Given the description of an element on the screen output the (x, y) to click on. 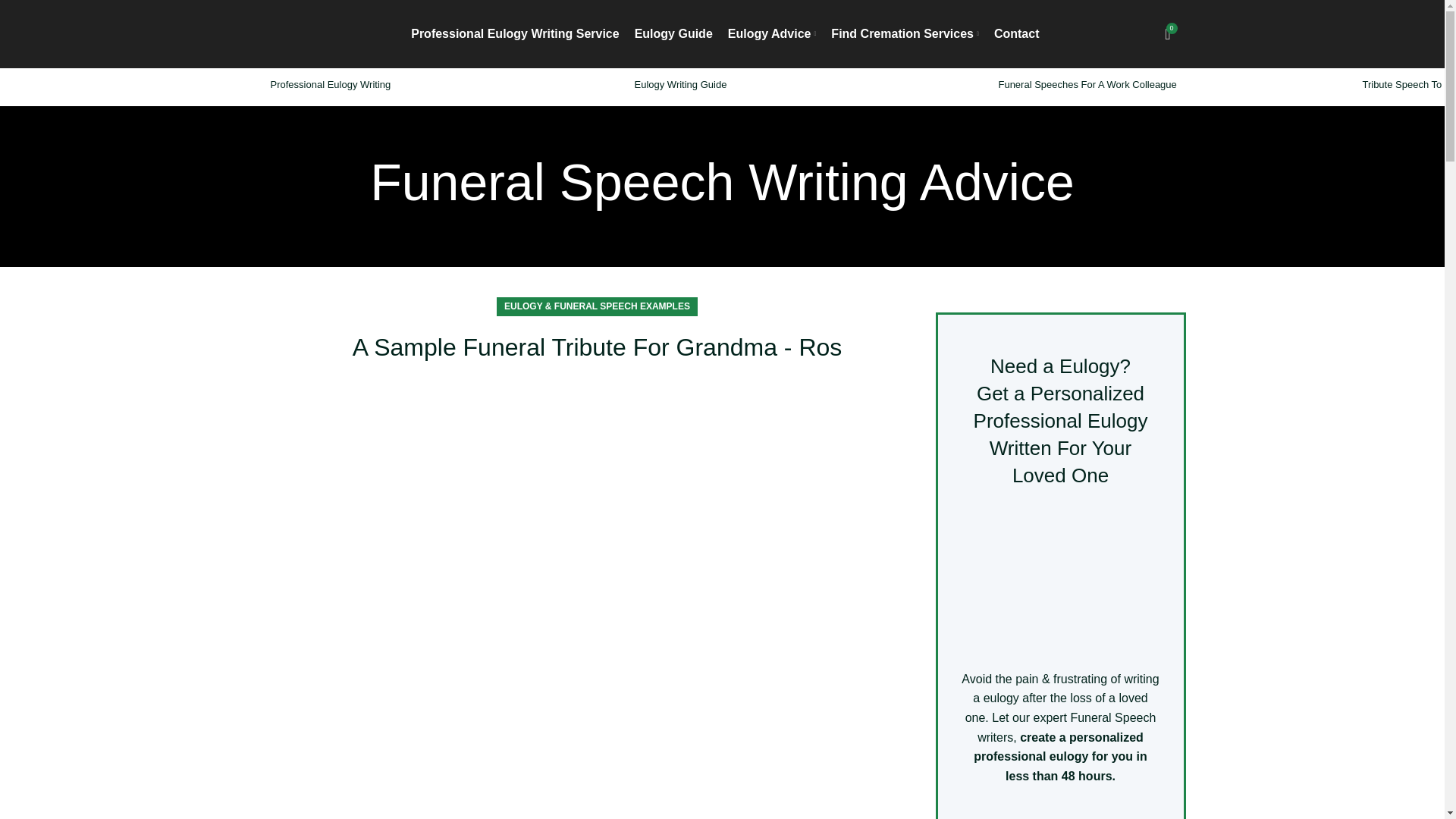
professional eulogy writing service sidebar (1059, 579)
Find Cremation Services (904, 33)
Funeral Speeches For A Work Colleague (1086, 84)
Eulogy Advice (772, 33)
Eulogy Writing Guide (679, 84)
Professional Eulogy Writing Service (514, 33)
Eulogy Guide (673, 33)
Tribute Speech To Dad From Daughter (1408, 84)
Professional Eulogy Writing (329, 84)
